Given the description of an element on the screen output the (x, y) to click on. 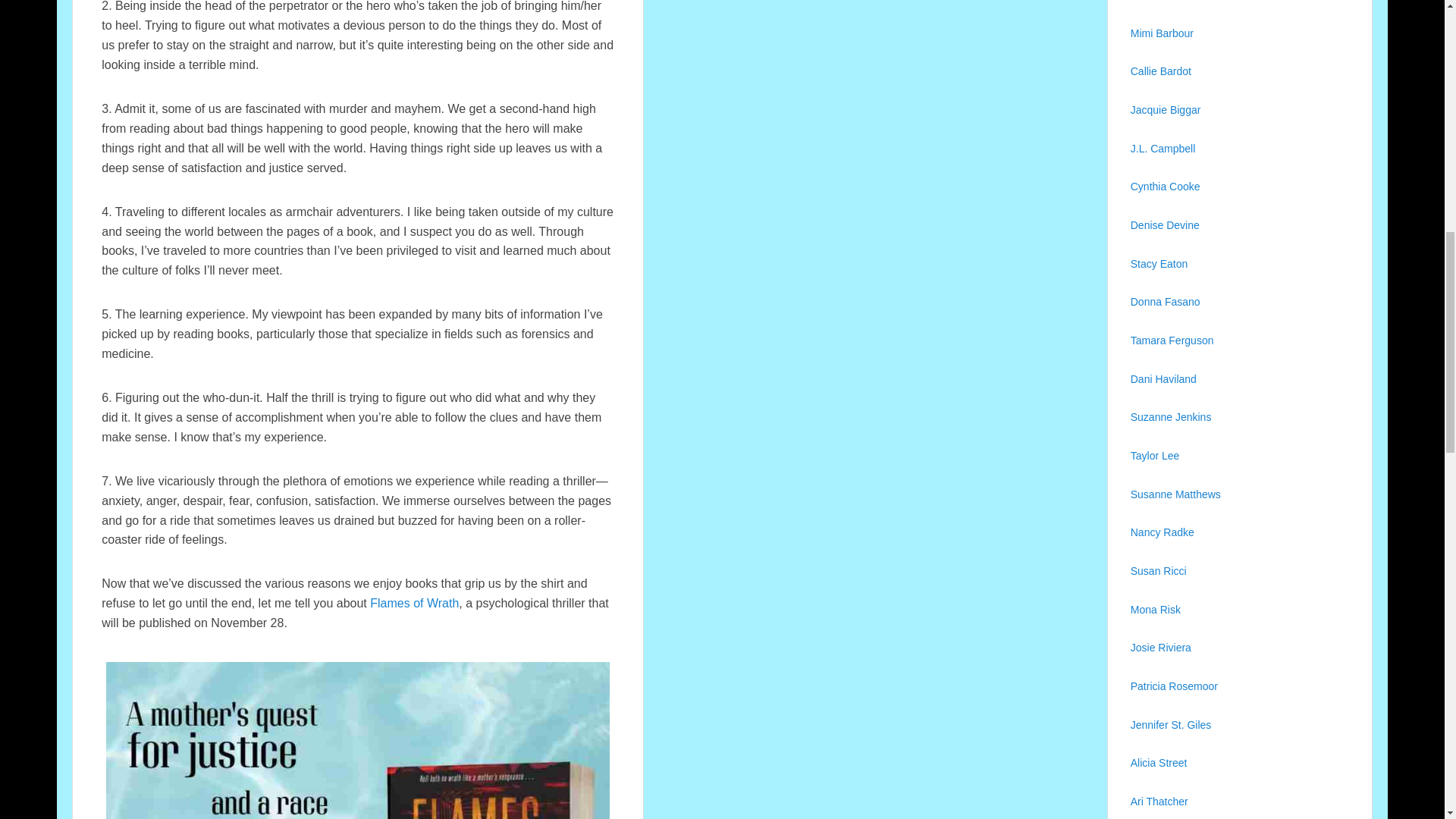
Mimi Barbour  (1163, 33)
Leanne Banks  (1166, 0)
Flames of Wrath (413, 603)
